Given the description of an element on the screen output the (x, y) to click on. 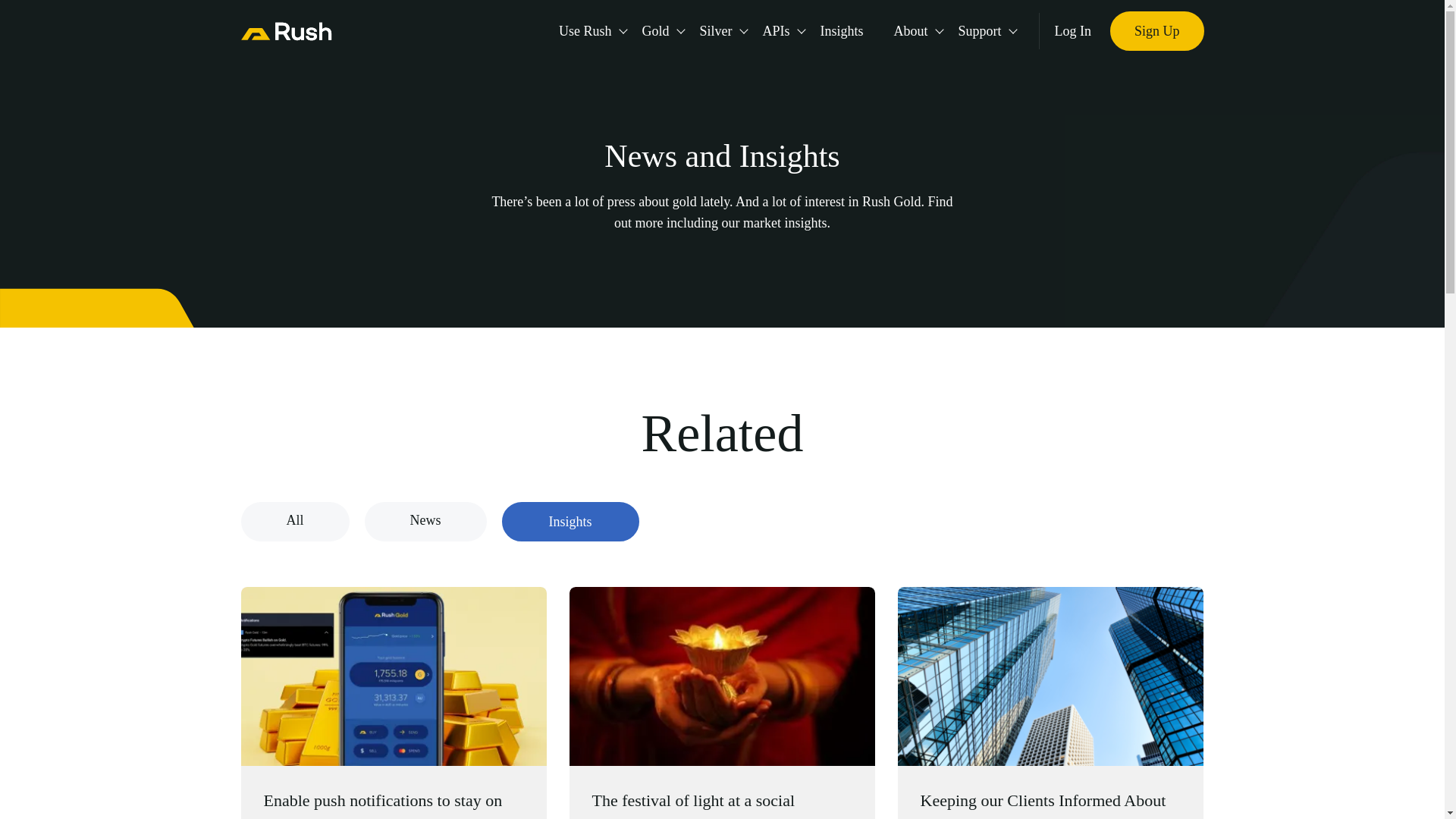
Rush Gold Global (286, 30)
Use Rush (585, 31)
